Given the description of an element on the screen output the (x, y) to click on. 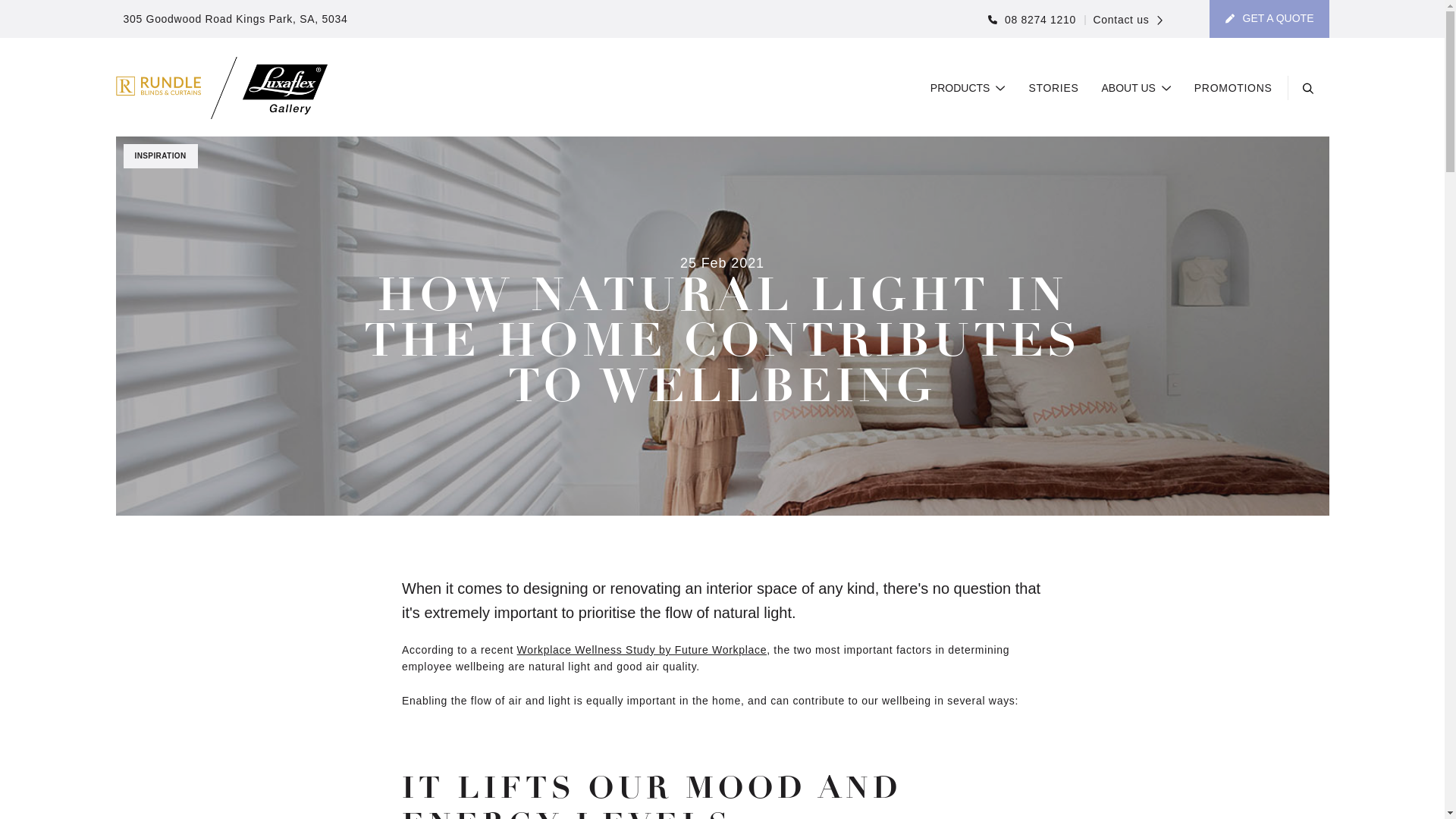
Workplace Wellness Study by Future Workplace Element type: text (642, 649)
STORIES Element type: text (1053, 88)
08 8274 1210 Element type: text (1032, 20)
PROMOTIONS Element type: text (1233, 88)
Contact us Element type: text (1123, 20)
ABOUT US Element type: text (1136, 88)
PRODUCTS Element type: text (968, 88)
GET A QUOTE Element type: text (1269, 18)
